Given the description of an element on the screen output the (x, y) to click on. 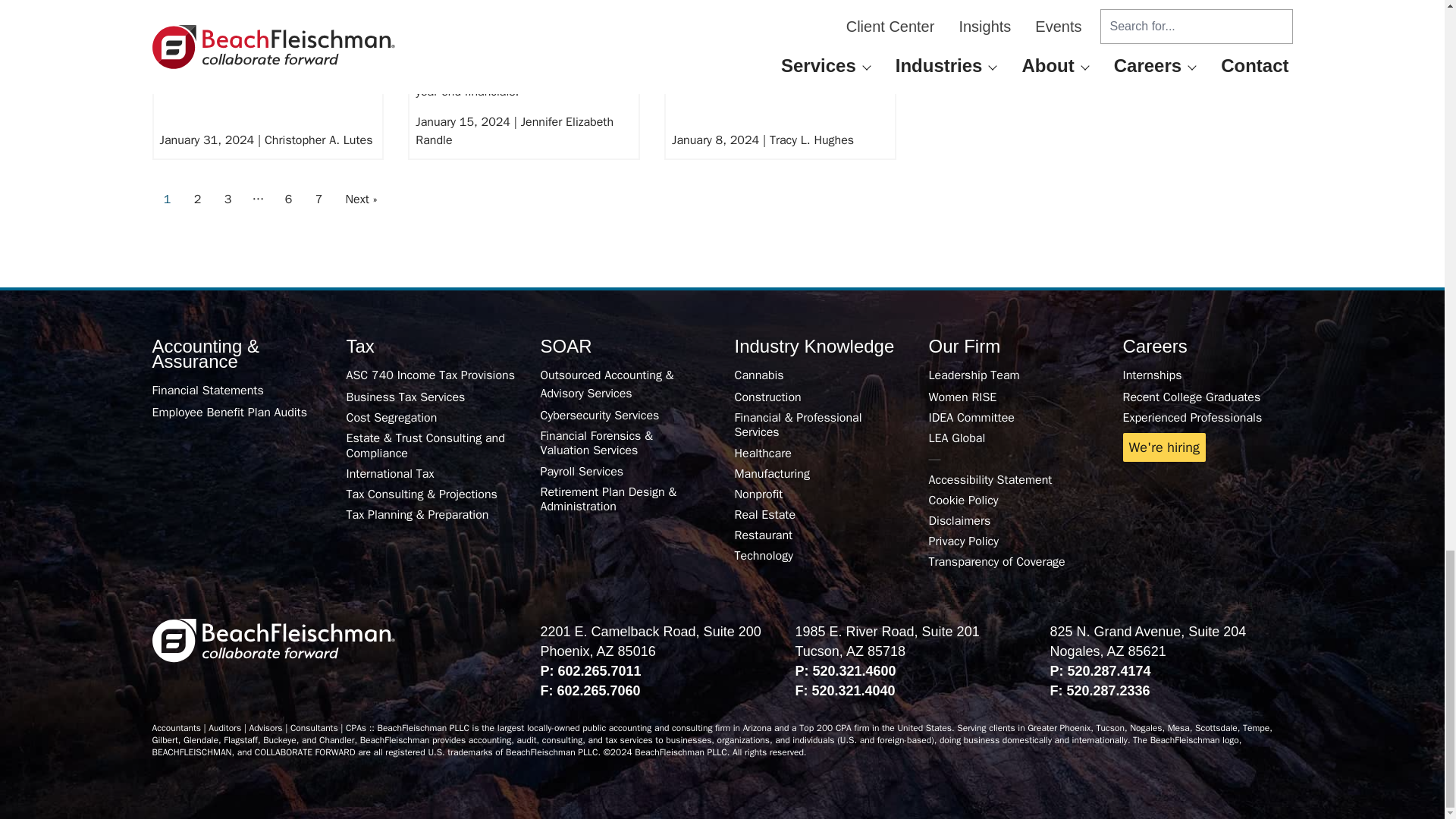
Posts by Tracy L. Hughes (811, 139)
Posts by Christopher A. Lutes (318, 139)
Posts by Jennifer Elizabeth Randle (513, 130)
